Given the description of an element on the screen output the (x, y) to click on. 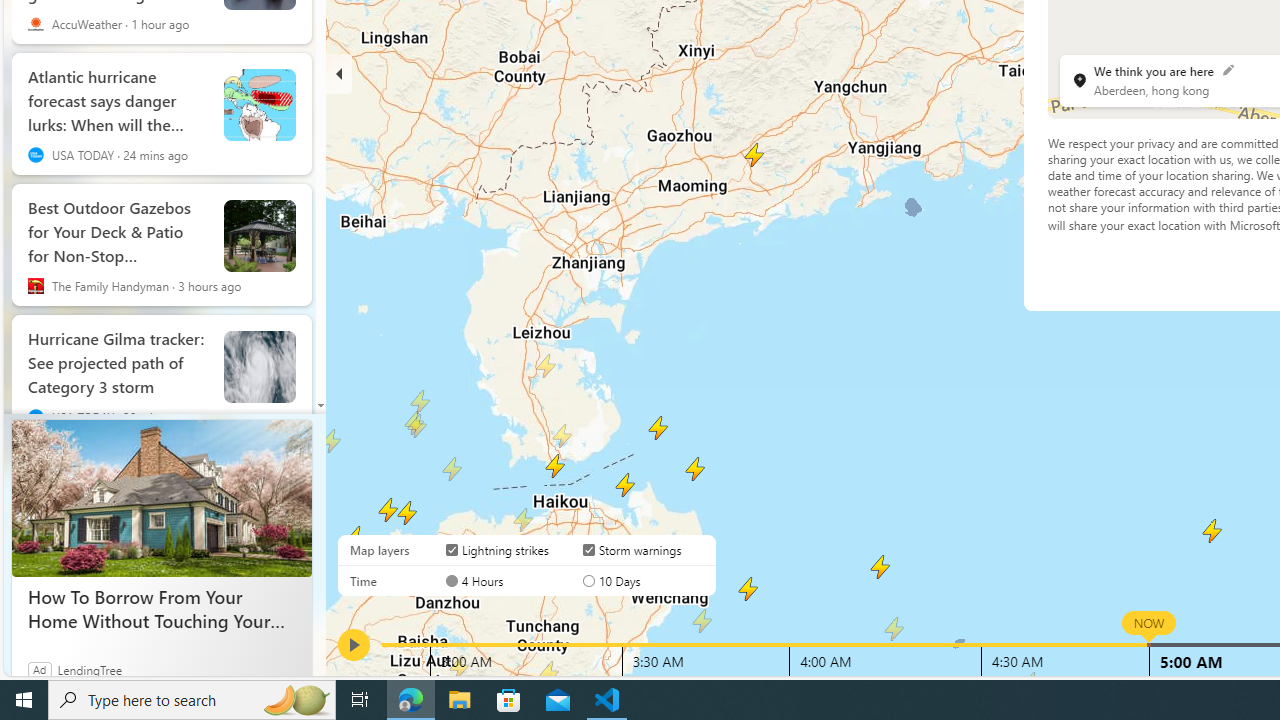
The Family Handyman (35, 285)
Ad (40, 669)
USA TODAY (35, 416)
